Given the description of an element on the screen output the (x, y) to click on. 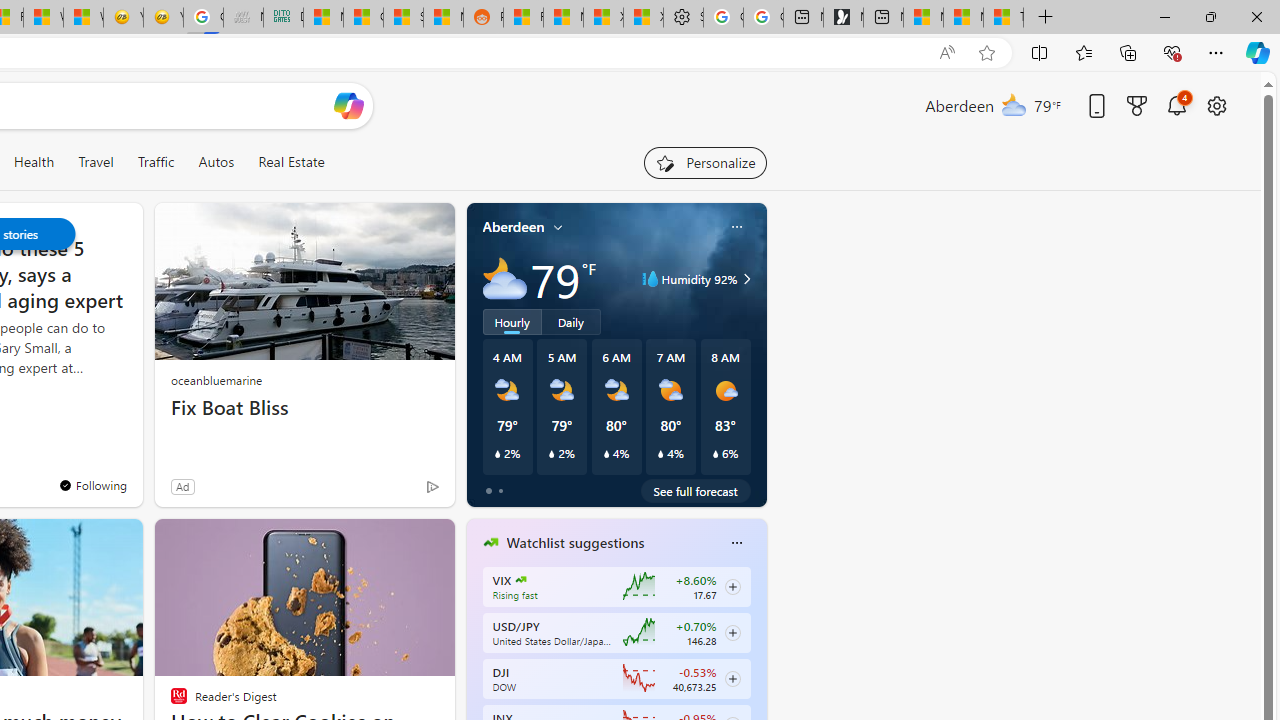
Mostly cloudy (504, 278)
Class: weather-arrow-glyph (746, 278)
Fix Boat Bliss (304, 407)
next (756, 670)
